Given the description of an element on the screen output the (x, y) to click on. 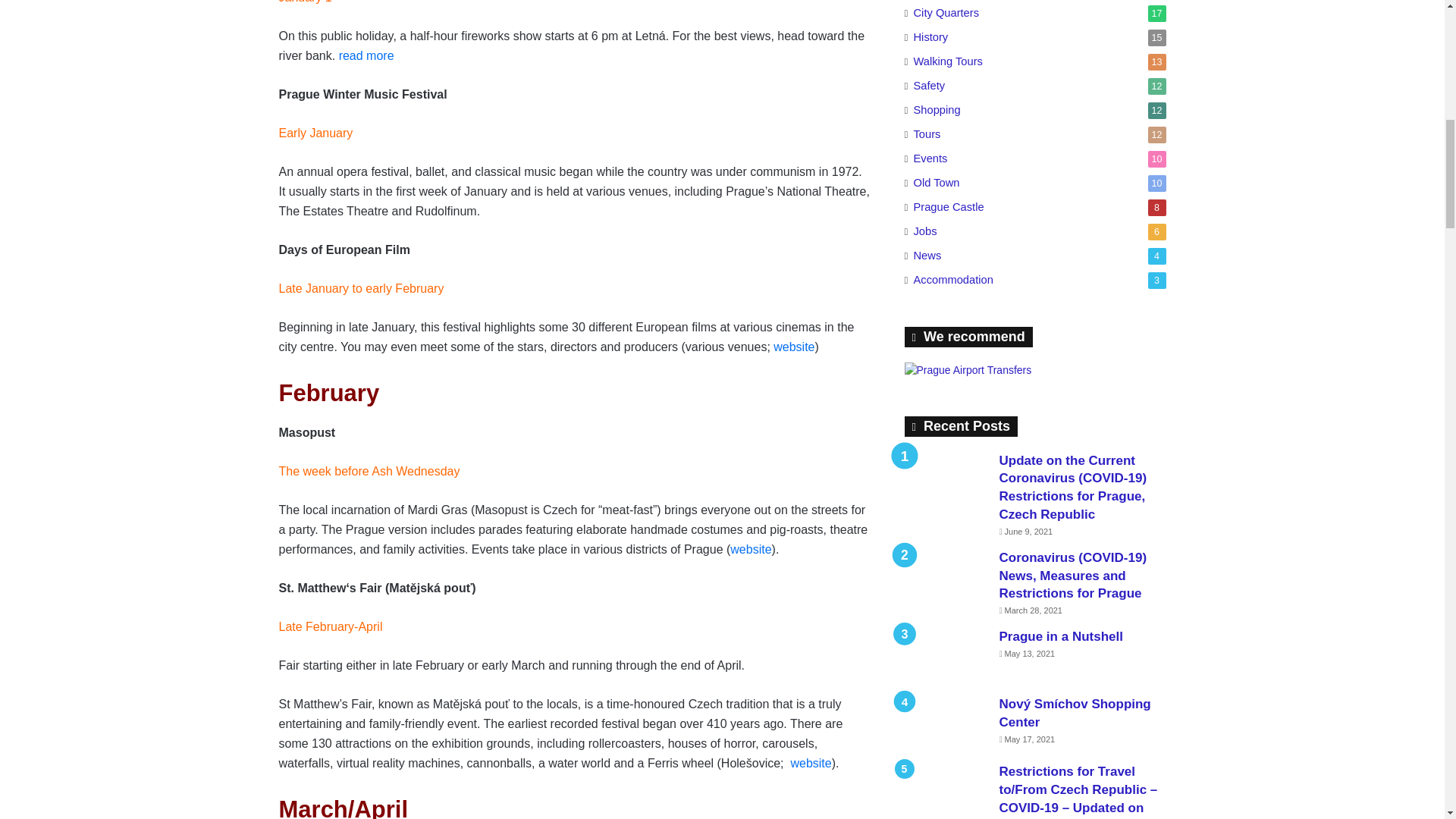
website (750, 549)
read more (366, 55)
website (793, 346)
website (810, 762)
